Given the description of an element on the screen output the (x, y) to click on. 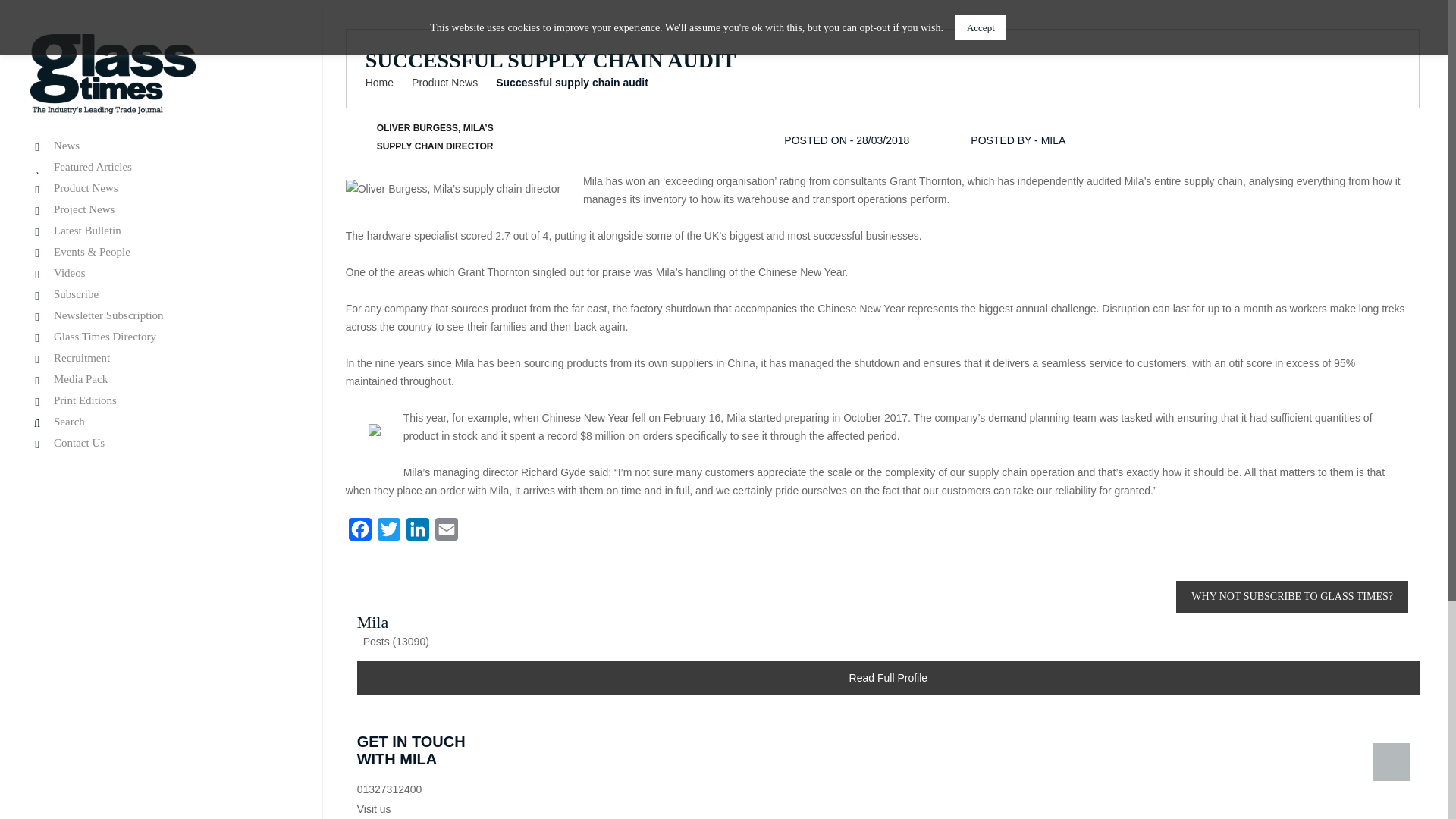
Subscribe (159, 294)
Newsletter Subscription (159, 315)
Glass Times - The industrys leading trade journal (112, 73)
Contact Us (159, 442)
Glass Times Directory (159, 336)
Recruitment (159, 358)
Latest Bulletin (159, 230)
Search (159, 421)
Product News (159, 187)
Videos (159, 273)
Media Pack (159, 379)
Featured Articles (159, 166)
Print Editions (159, 400)
News (159, 145)
Project News (159, 209)
